Given the description of an element on the screen output the (x, y) to click on. 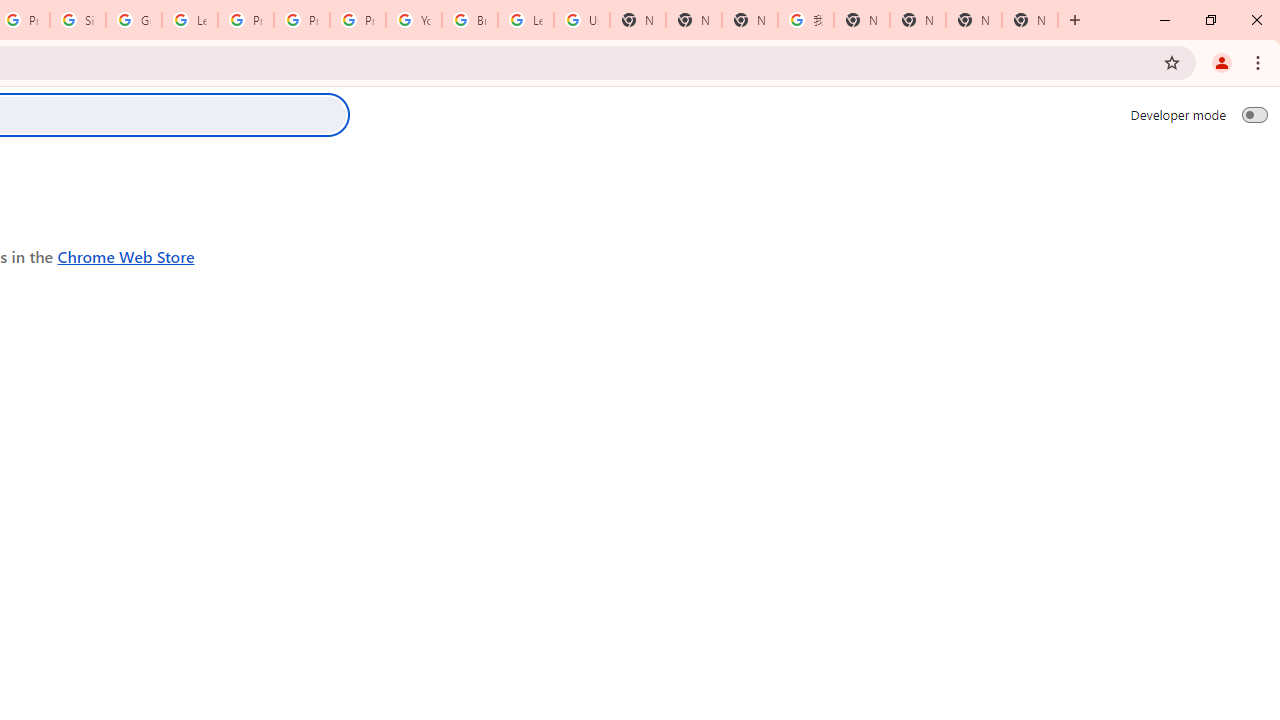
YouTube (413, 20)
New Tab (1030, 20)
Privacy Help Center - Policies Help (245, 20)
Sign in - Google Accounts (77, 20)
Privacy Help Center - Policies Help (301, 20)
